Given the description of an element on the screen output the (x, y) to click on. 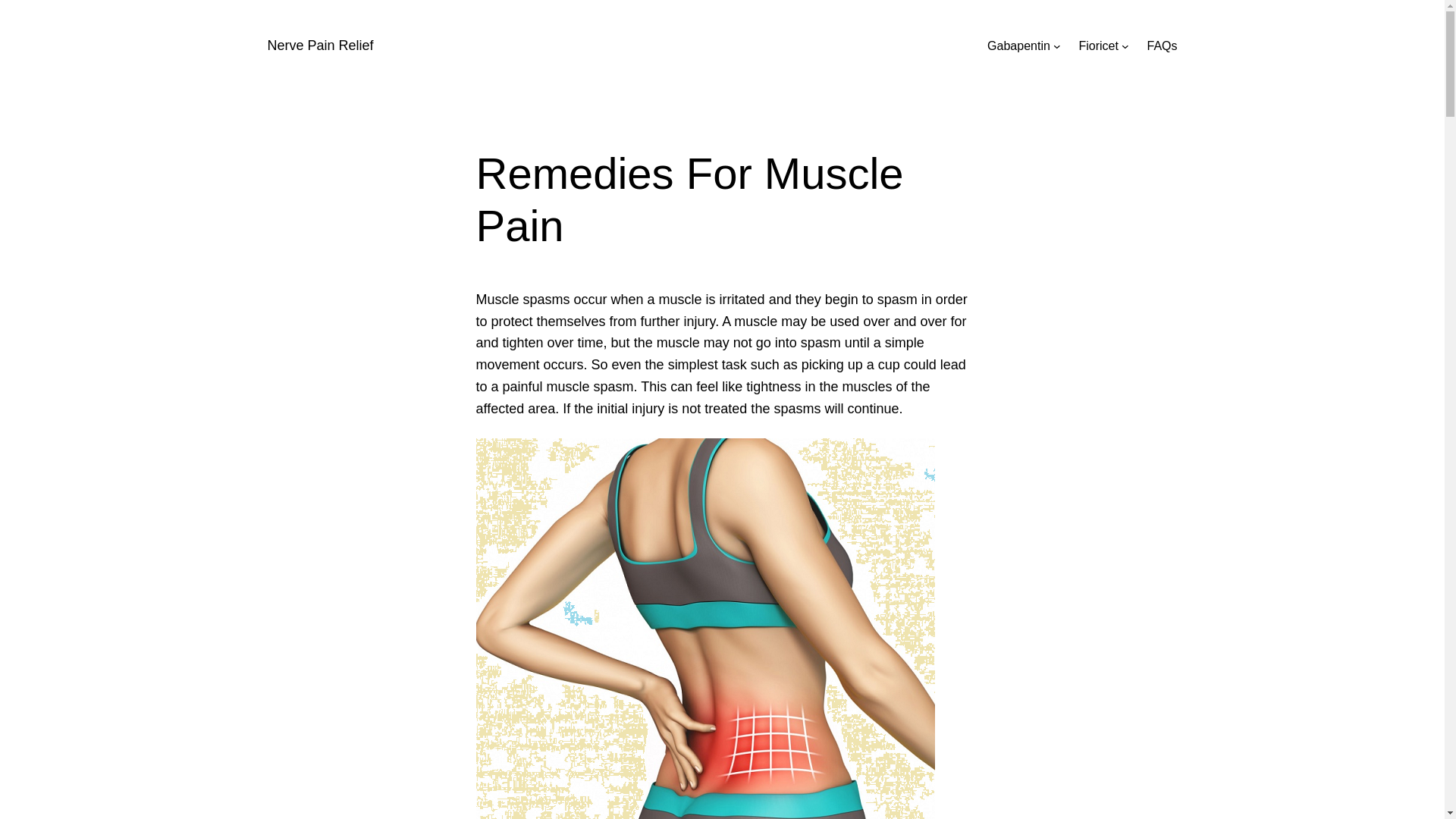
Fioricet (1098, 46)
Nerve Pain Relief (319, 45)
FAQs (1161, 46)
Gabapentin (1018, 46)
